Given the description of an element on the screen output the (x, y) to click on. 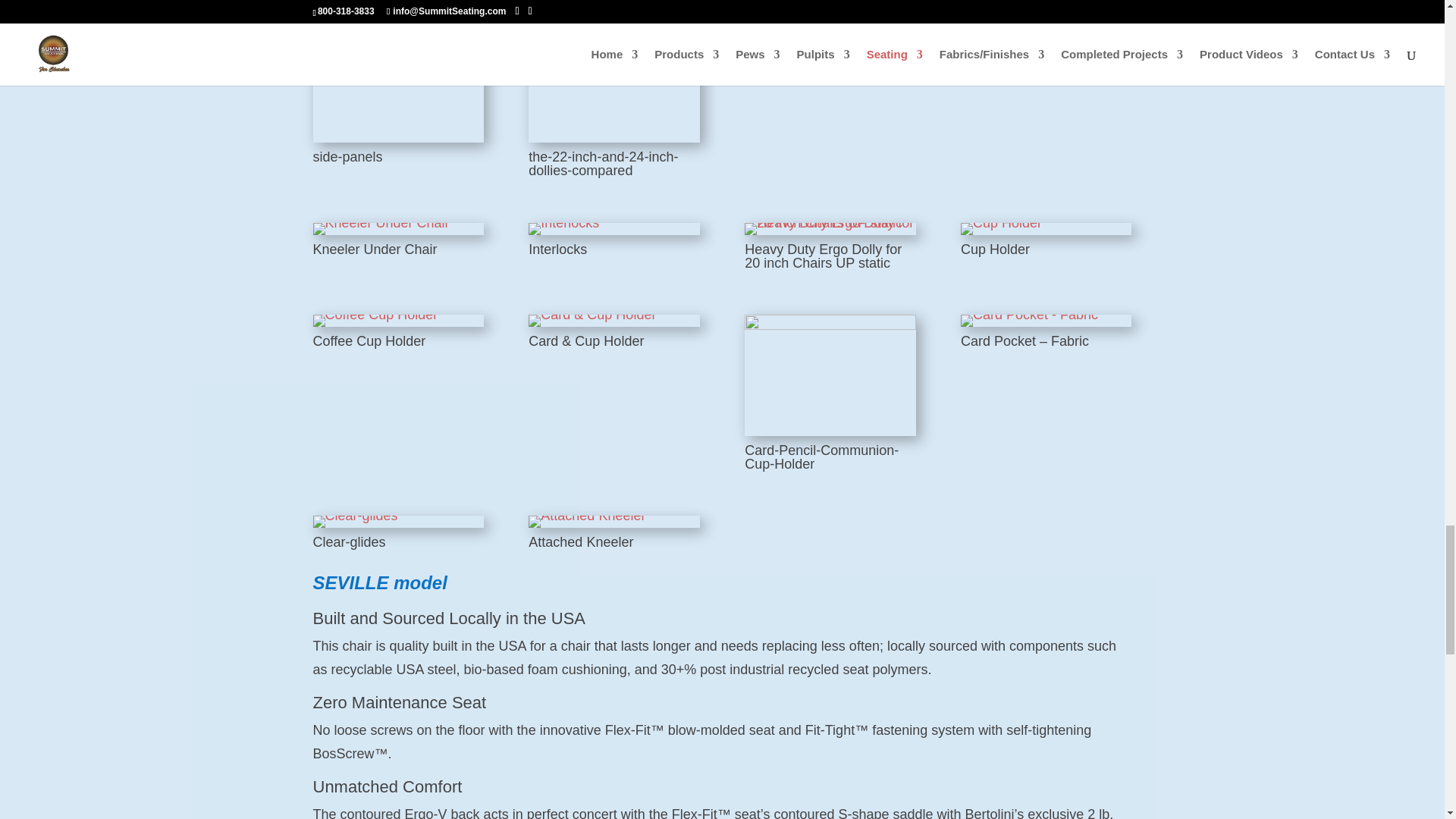
the-22-inch-and-24-inch-dollies-compared (613, 31)
side-panels (398, 31)
Kneeler Under Chair (380, 222)
Retractable Interlocks (816, 20)
Option-Arms (1004, 20)
